Given the description of an element on the screen output the (x, y) to click on. 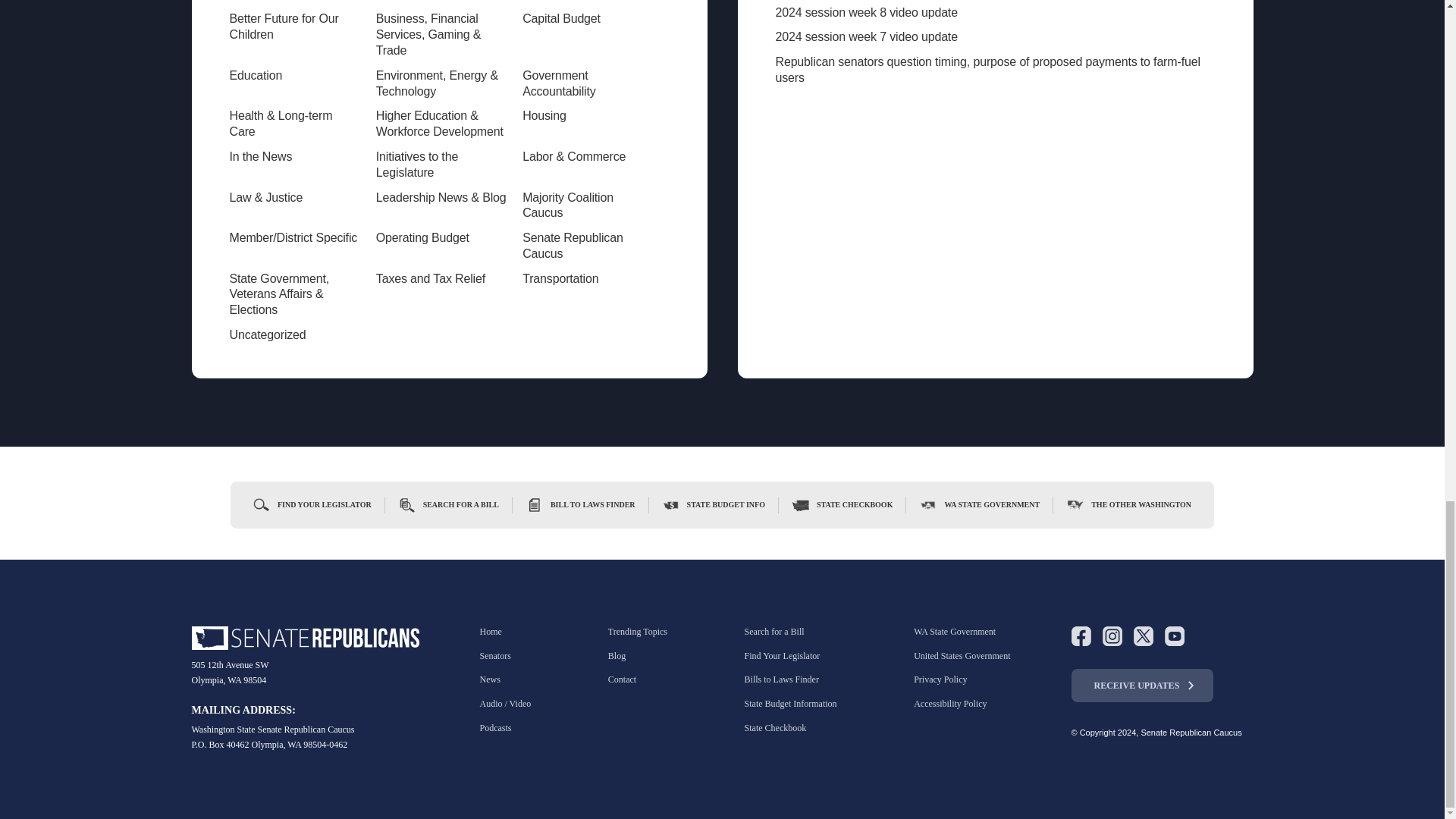
Facebook (1080, 636)
Youtube (1174, 636)
X (1142, 636)
Senate Republican Caucus (304, 638)
Instagram (1112, 636)
